Given the description of an element on the screen output the (x, y) to click on. 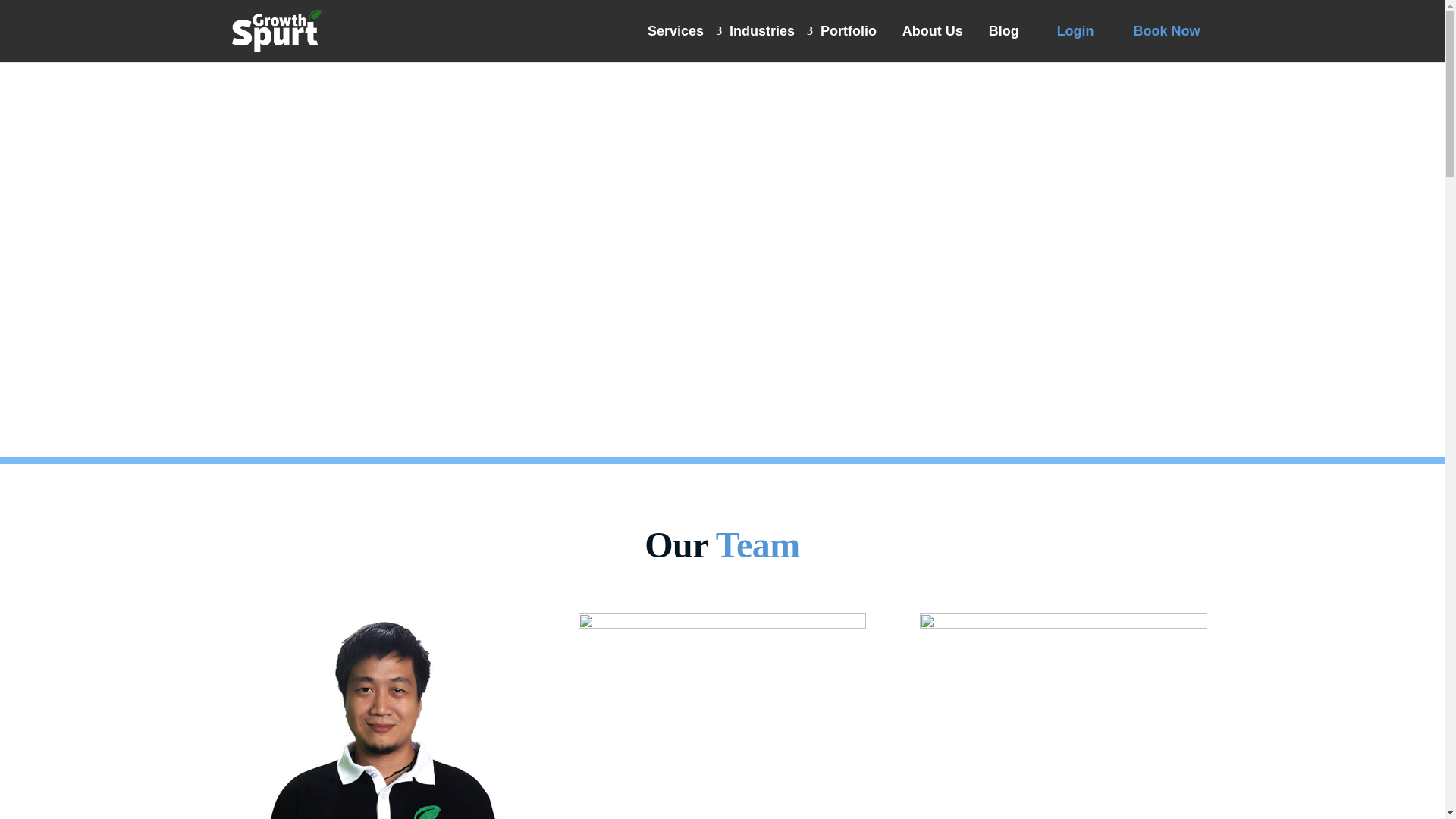
Portfolio (847, 30)
jheyar (379, 716)
Services (675, 30)
Get Started (300, 321)
kira (722, 716)
About Us (932, 30)
aiker (1064, 716)
Book Now (1166, 30)
Blog (1003, 30)
Login (1075, 30)
Industries (761, 30)
